Given the description of an element on the screen output the (x, y) to click on. 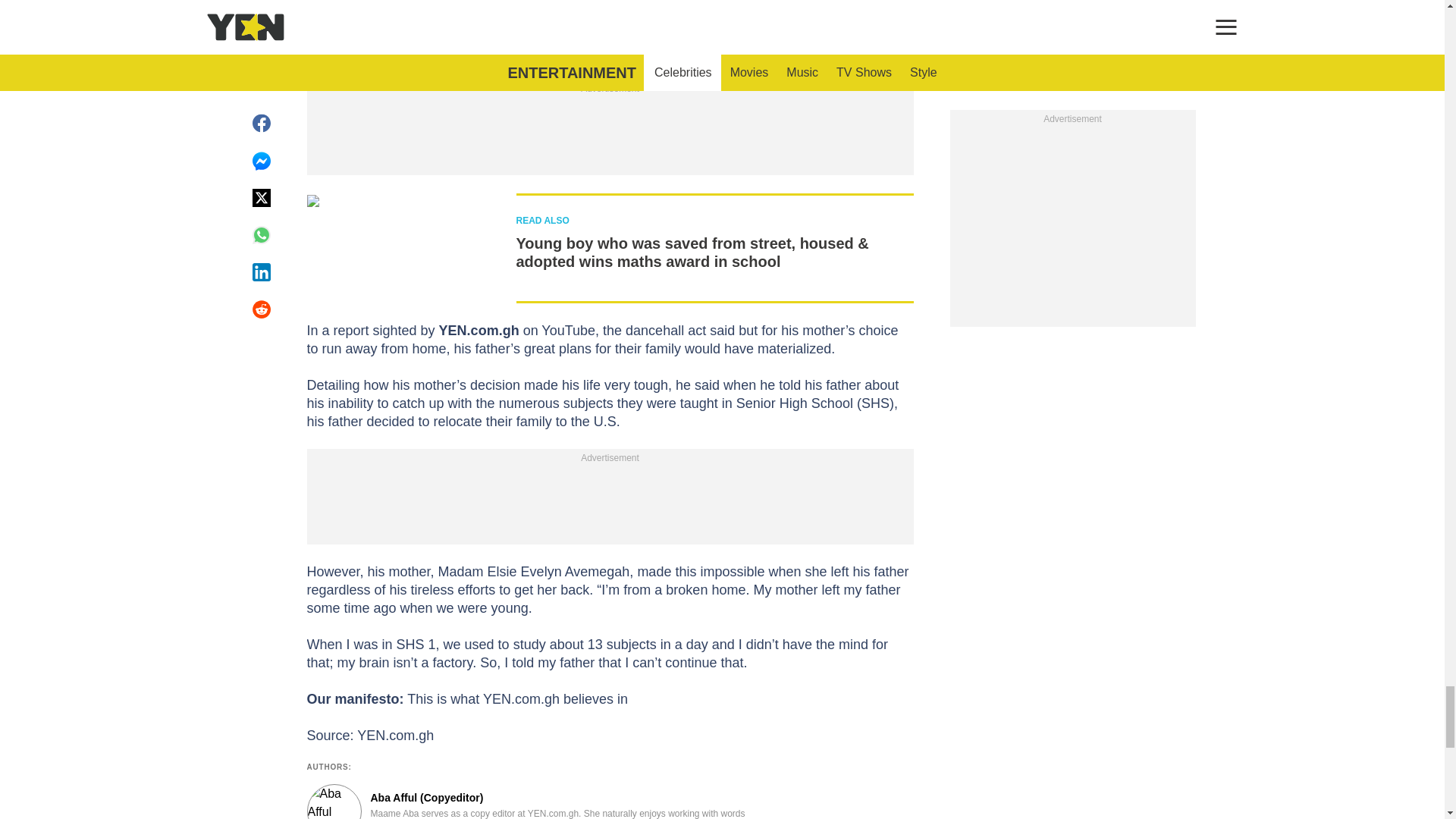
Author page (533, 801)
